Given the description of an element on the screen output the (x, y) to click on. 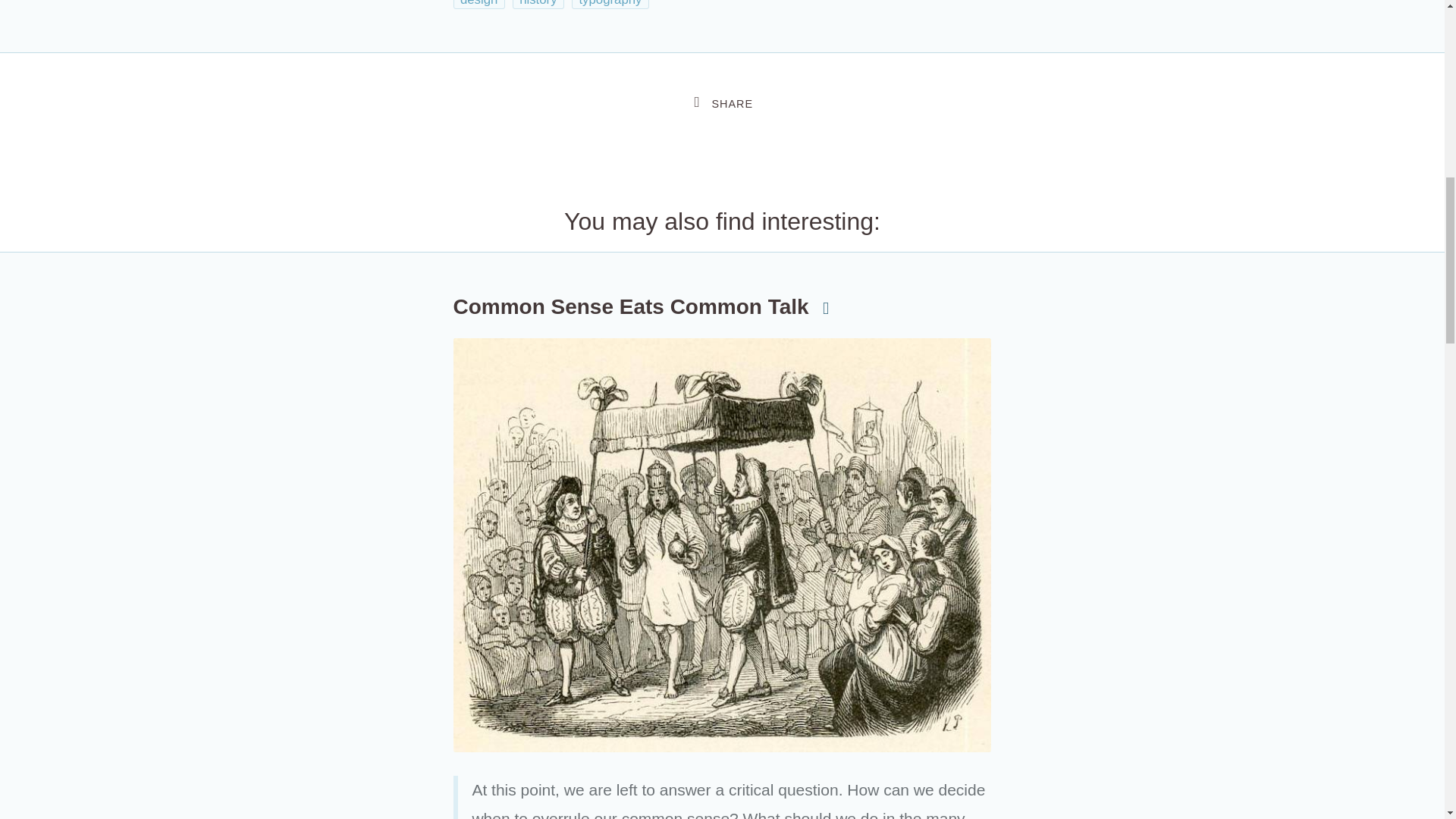
typography (610, 4)
design (478, 4)
SHARE (721, 103)
Common Sense Eats Common Talk (643, 306)
history (538, 4)
